Given the description of an element on the screen output the (x, y) to click on. 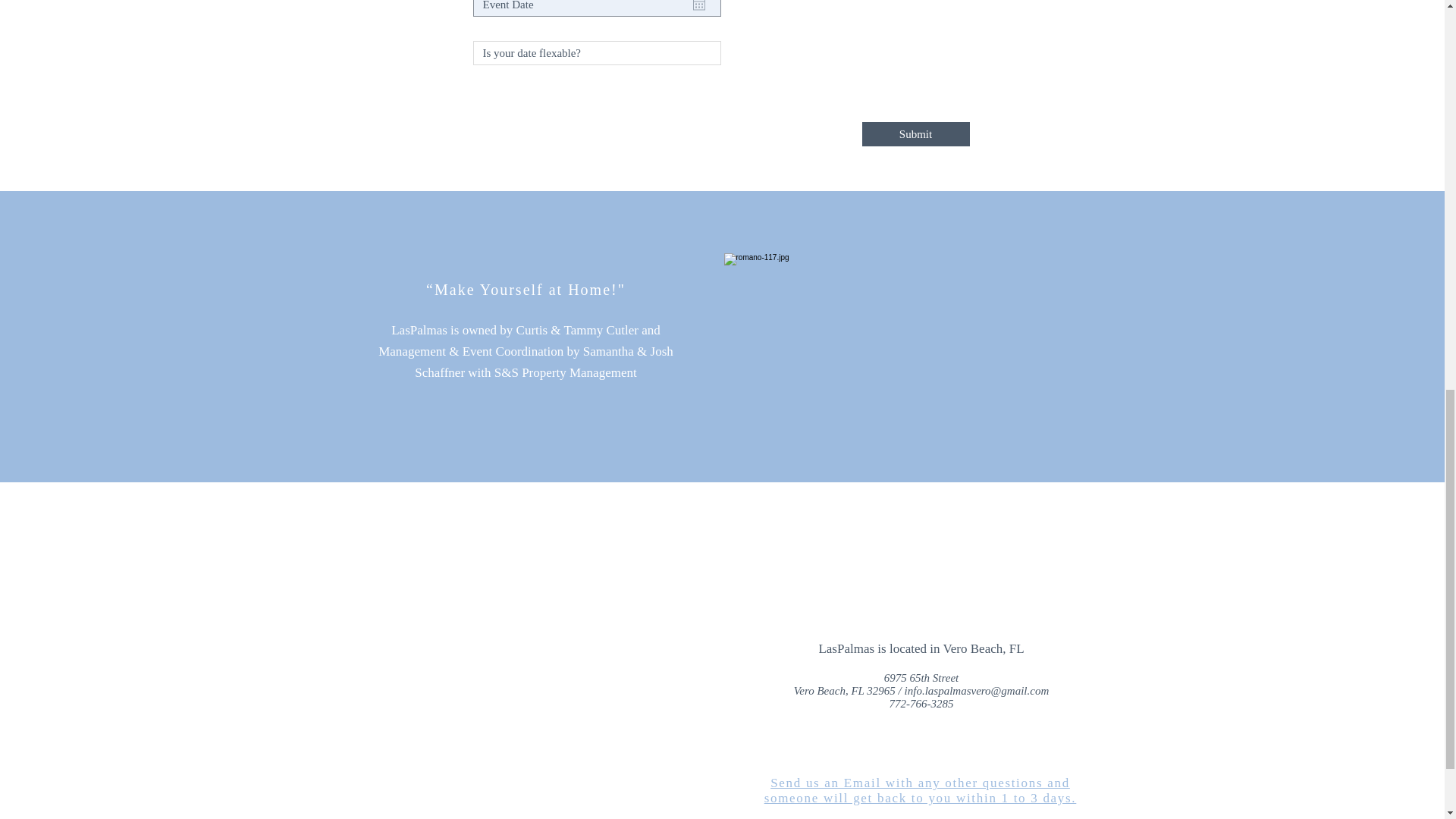
Submit (915, 134)
